Given the description of an element on the screen output the (x, y) to click on. 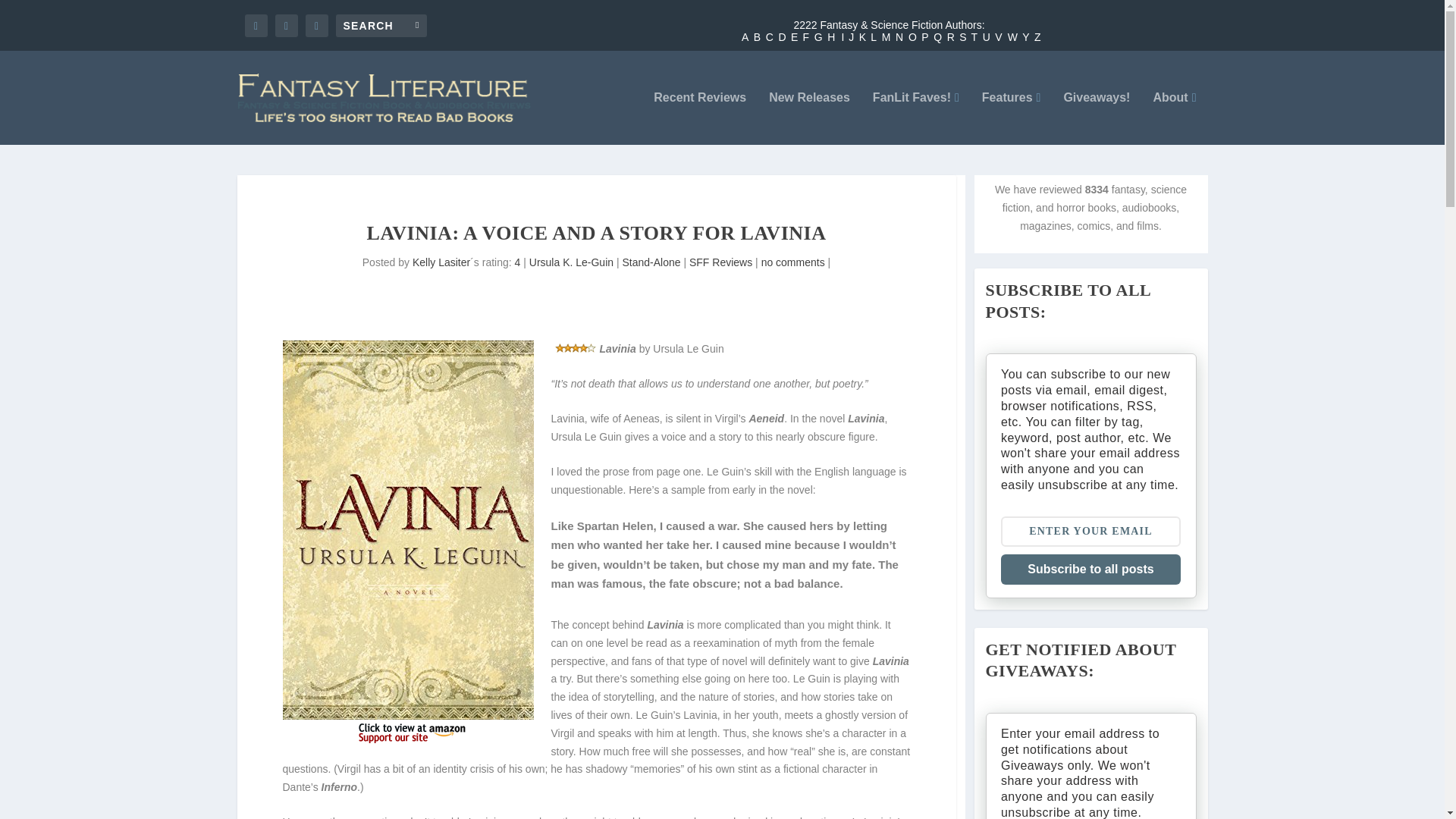
Search for: (380, 24)
FanLit Faves! (915, 117)
Posts by Kelly Lasiter (441, 262)
